Given the description of an element on the screen output the (x, y) to click on. 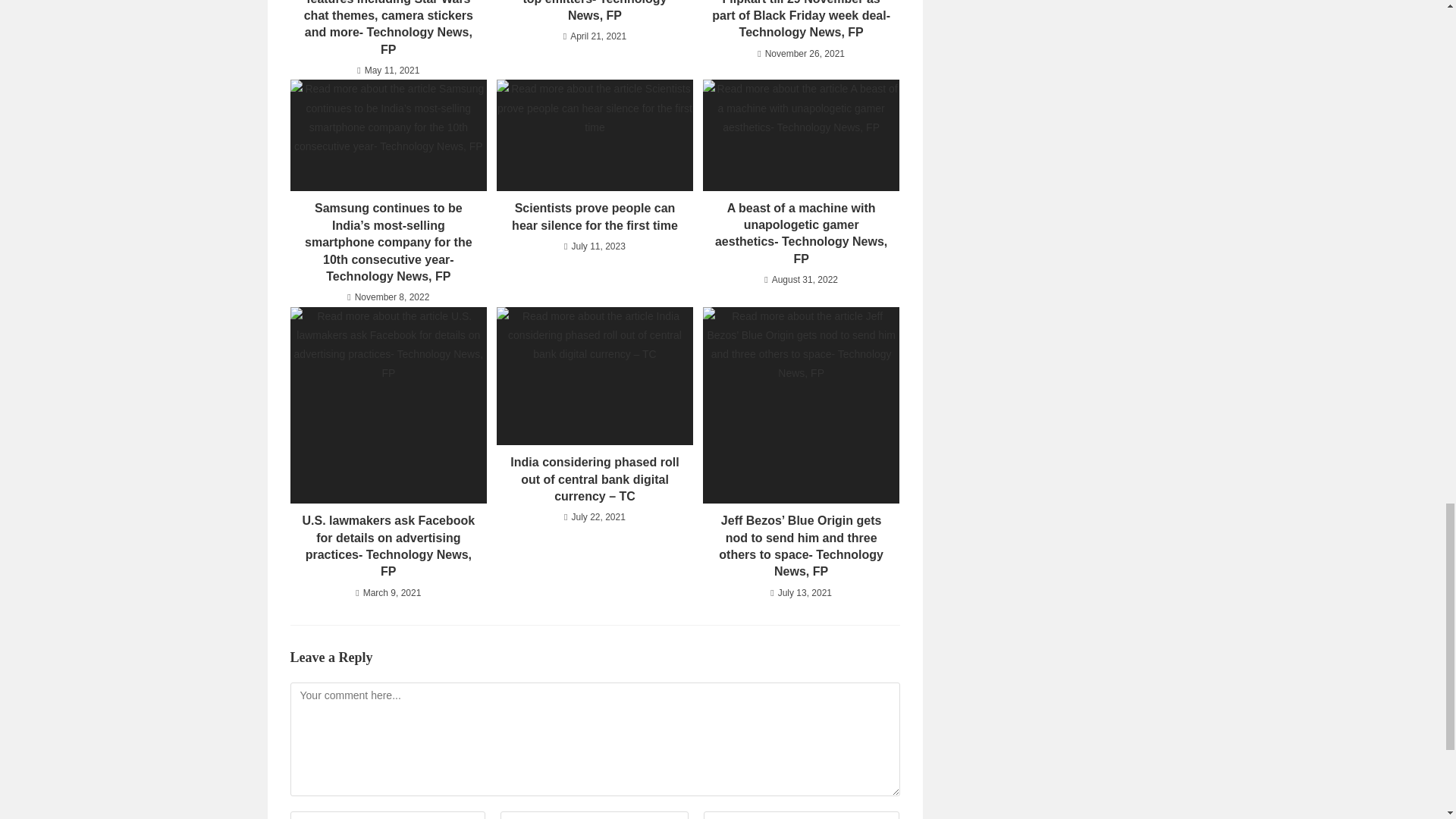
Scientists prove people can hear silence for the first time (594, 216)
